Given the description of an element on the screen output the (x, y) to click on. 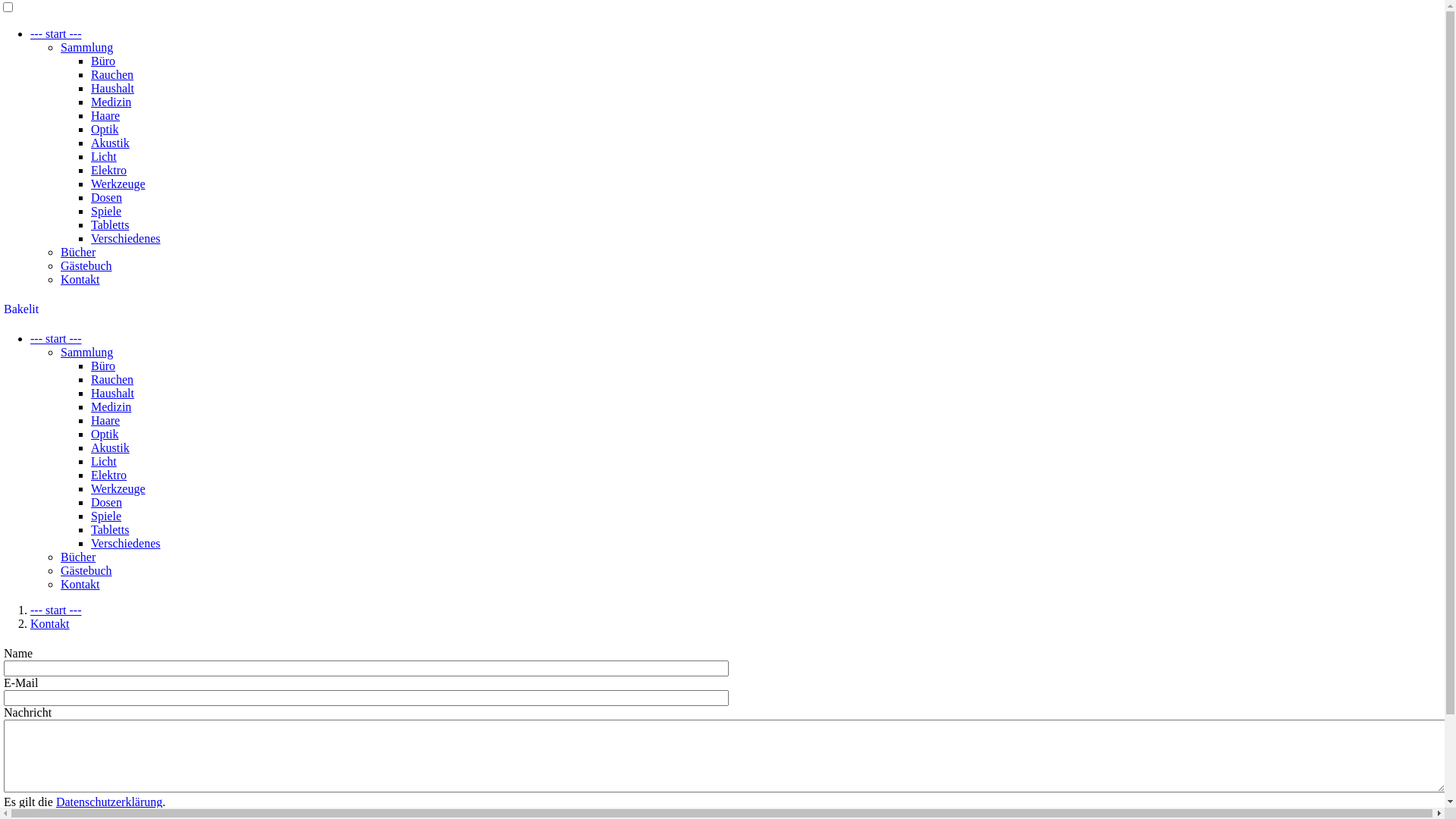
Medizin Element type: text (111, 406)
Elektro Element type: text (108, 169)
Medizin Element type: text (111, 101)
Spiele Element type: text (106, 515)
Haare Element type: text (105, 115)
Akustik Element type: text (110, 447)
Optik Element type: text (104, 128)
Werkzeuge Element type: text (118, 488)
Kontakt Element type: text (80, 279)
Werkzeuge Element type: text (118, 183)
Elektro Element type: text (108, 474)
Tabletts Element type: text (109, 224)
Tabletts Element type: text (109, 529)
Optik Element type: text (104, 433)
Spiele Element type: text (106, 210)
Sammlung Element type: text (86, 351)
Haushalt Element type: text (112, 87)
Dosen Element type: text (106, 501)
Sammlung Element type: text (86, 46)
Verschiedenes Element type: text (125, 238)
--- start --- Element type: text (55, 338)
Akustik Element type: text (110, 142)
Licht Element type: text (103, 461)
--- start --- Element type: text (55, 33)
Bakelit Element type: text (20, 308)
Rauchen Element type: text (112, 74)
Haare Element type: text (105, 420)
Kontakt Element type: text (80, 583)
Verschiedenes Element type: text (125, 542)
--- start --- Element type: text (55, 609)
Licht Element type: text (103, 156)
Kontakt Element type: text (49, 623)
Rauchen Element type: text (112, 379)
Dosen Element type: text (106, 197)
Haushalt Element type: text (112, 392)
